Given the description of an element on the screen output the (x, y) to click on. 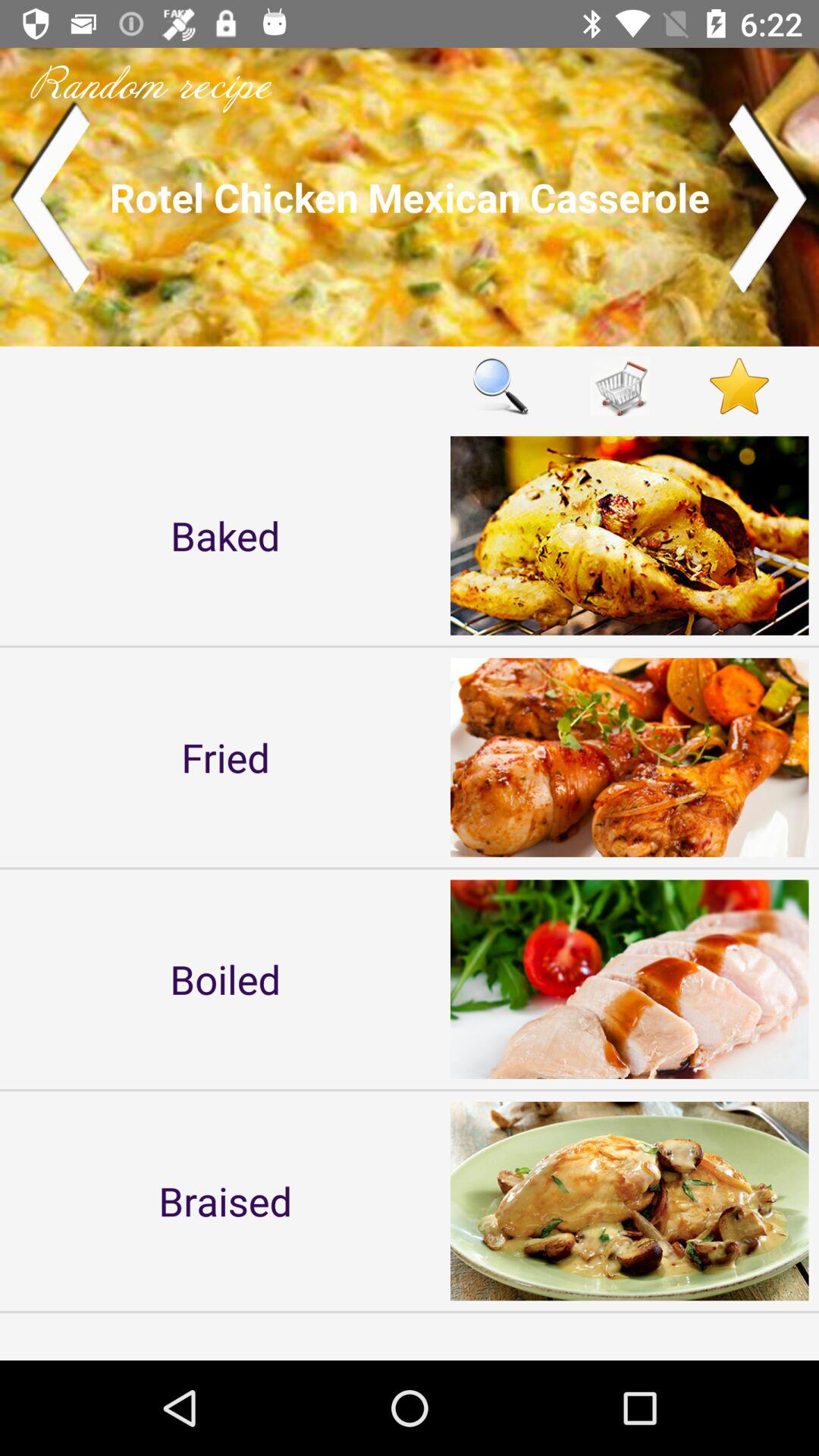
add cart (619, 385)
